Given the description of an element on the screen output the (x, y) to click on. 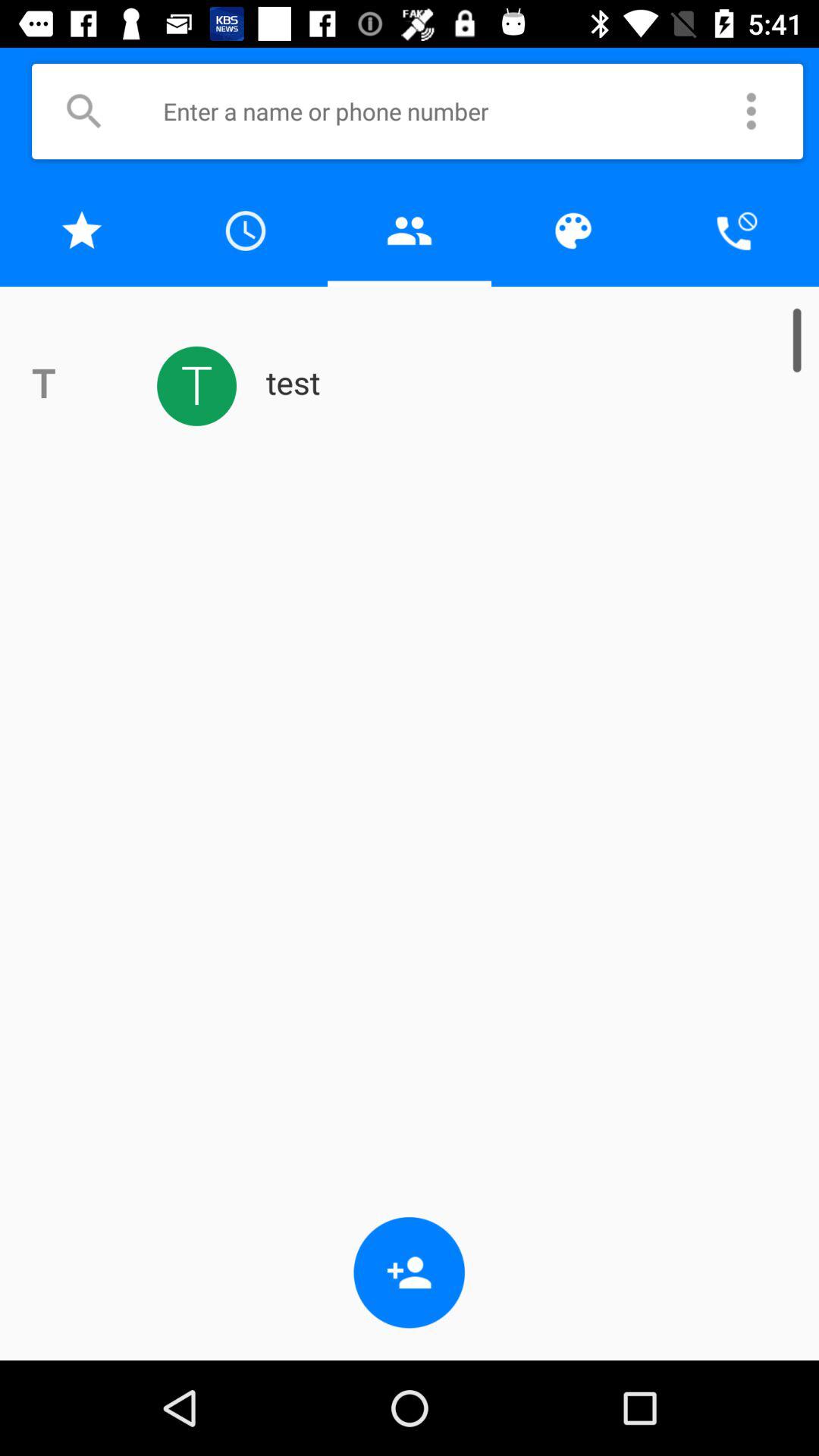
a button to search for contacts (83, 111)
